Given the description of an element on the screen output the (x, y) to click on. 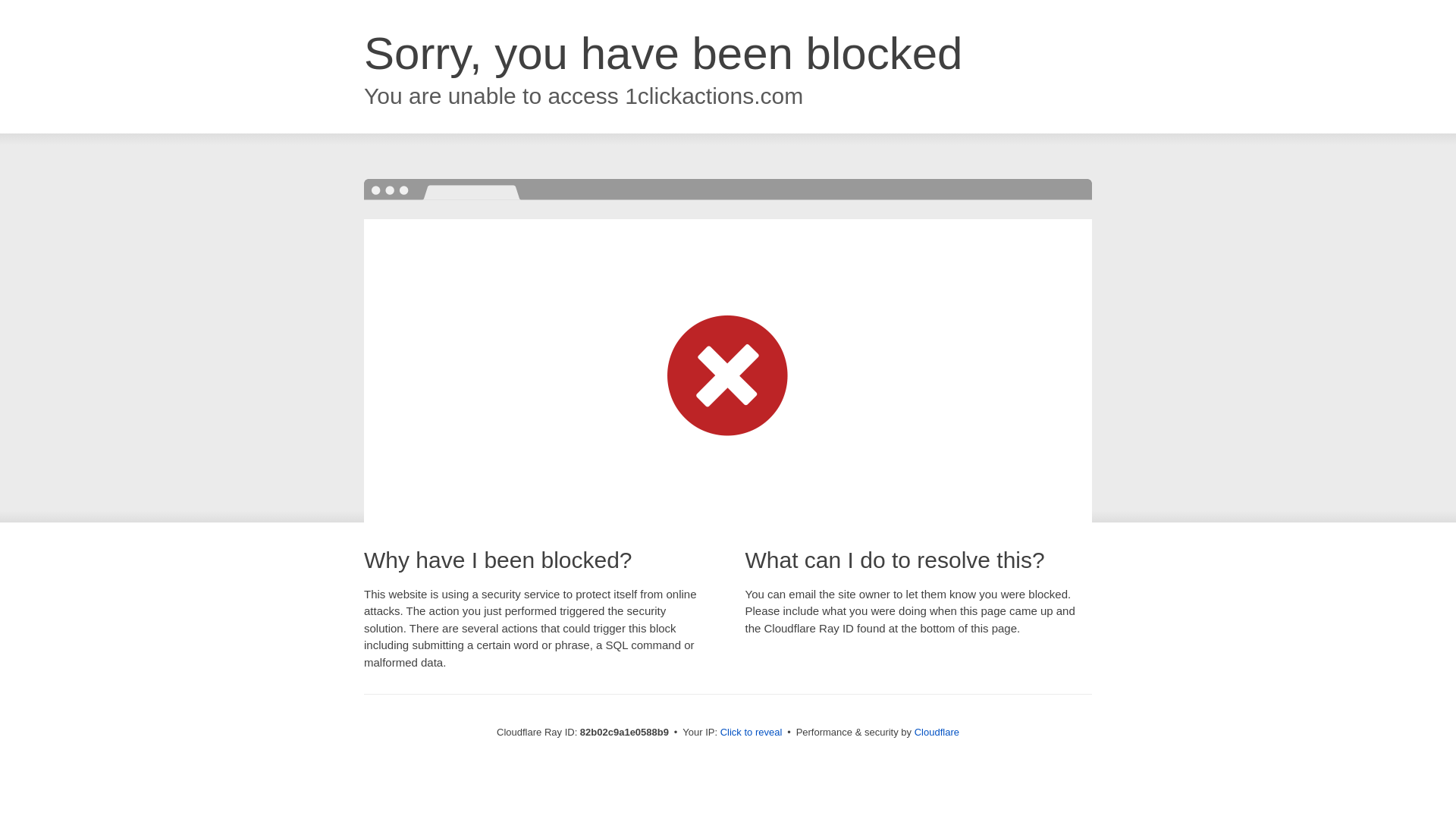
Click to reveal Element type: text (751, 732)
Cloudflare Element type: text (936, 731)
